Given the description of an element on the screen output the (x, y) to click on. 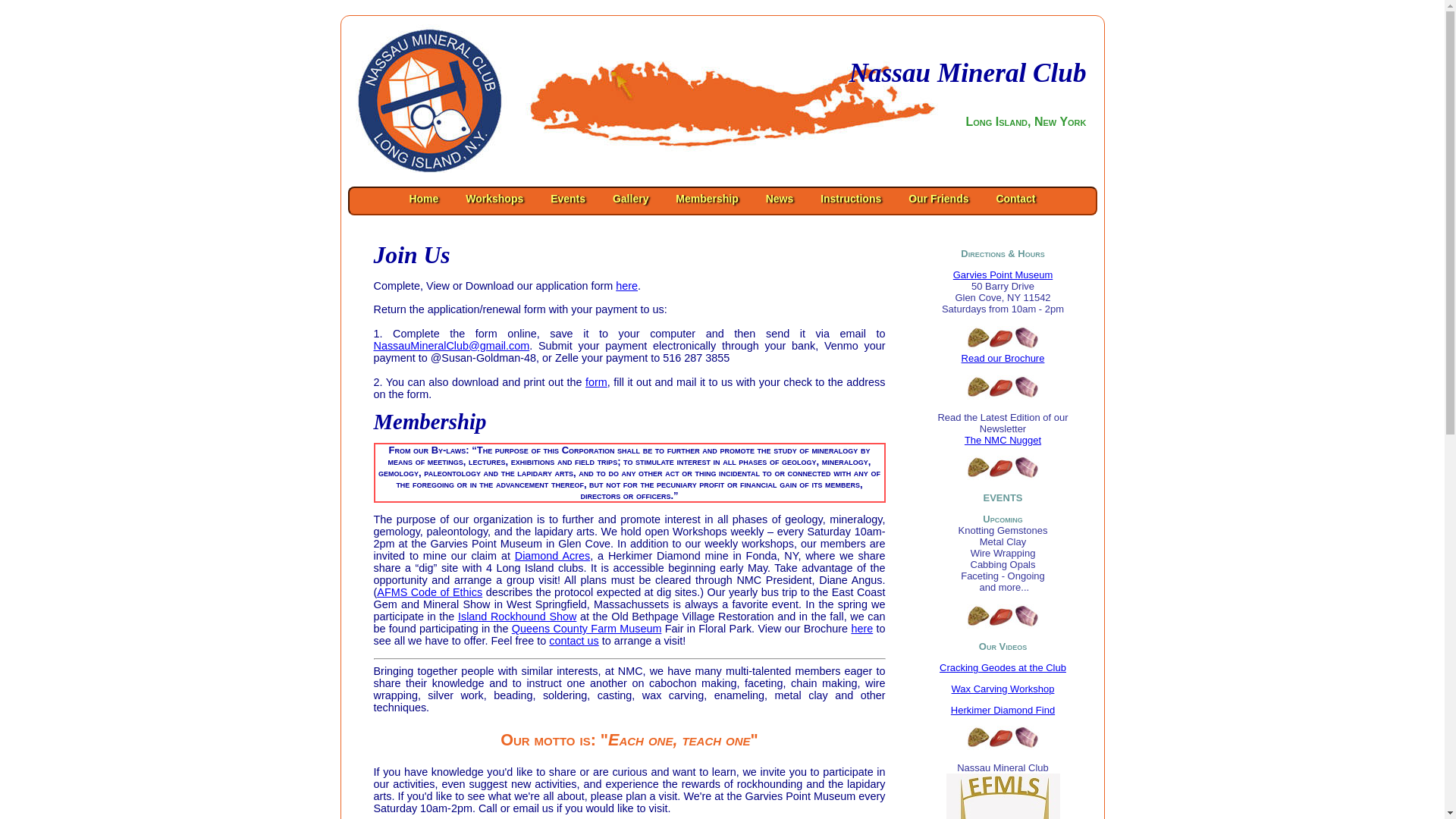
Herkimer Diamond Find (1002, 709)
Contact (1015, 198)
Diamond Acres (552, 555)
Events (567, 198)
News (779, 198)
contact us (573, 640)
Our Friends (938, 198)
Instructions (850, 198)
Home (423, 198)
Workshops (494, 198)
